Given the description of an element on the screen output the (x, y) to click on. 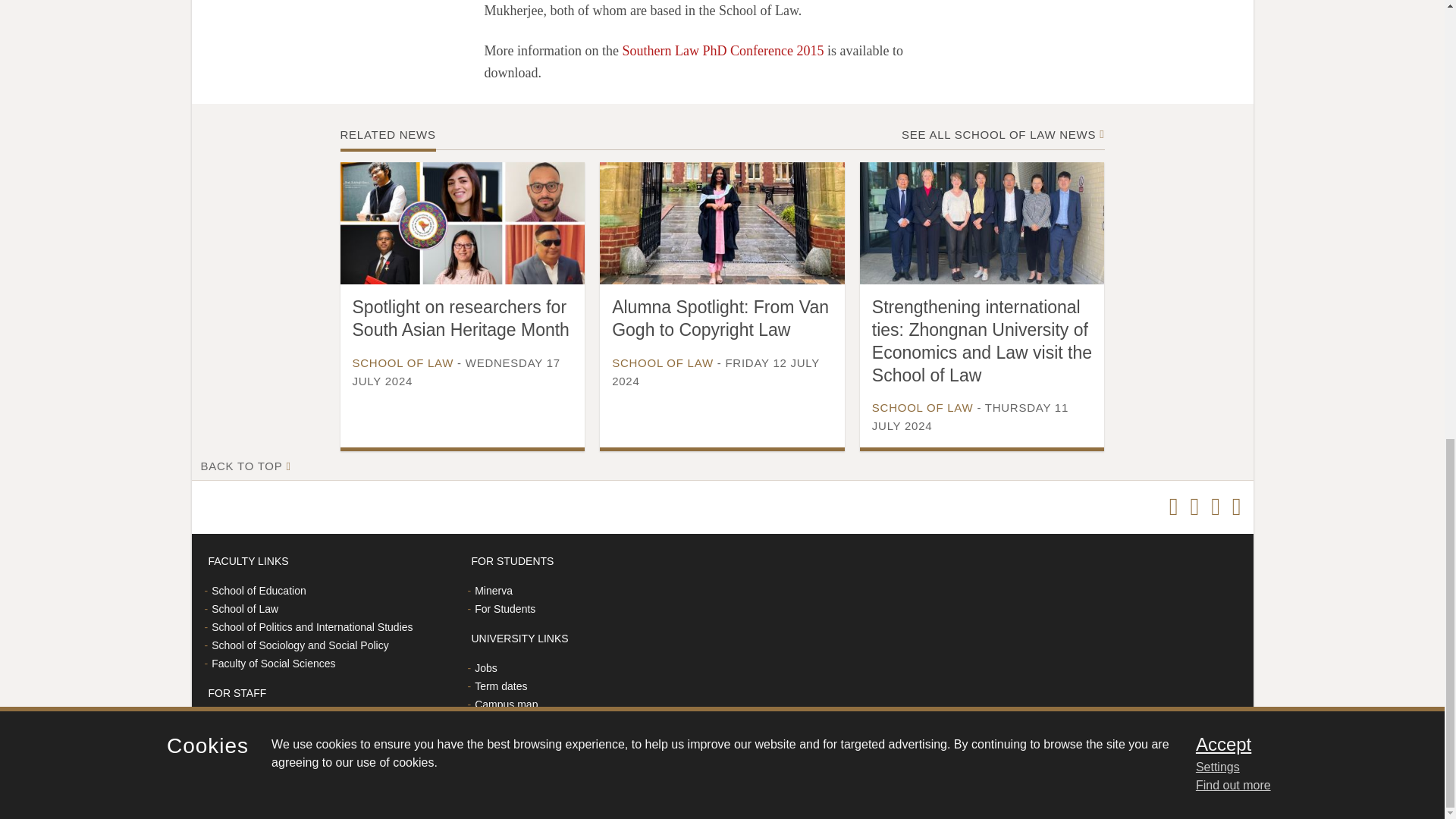
Go to Facebook page (1193, 507)
Go to Instagram page (1236, 507)
Go to Twitter page (1173, 507)
Go to Weibo page (1215, 507)
